Given the description of an element on the screen output the (x, y) to click on. 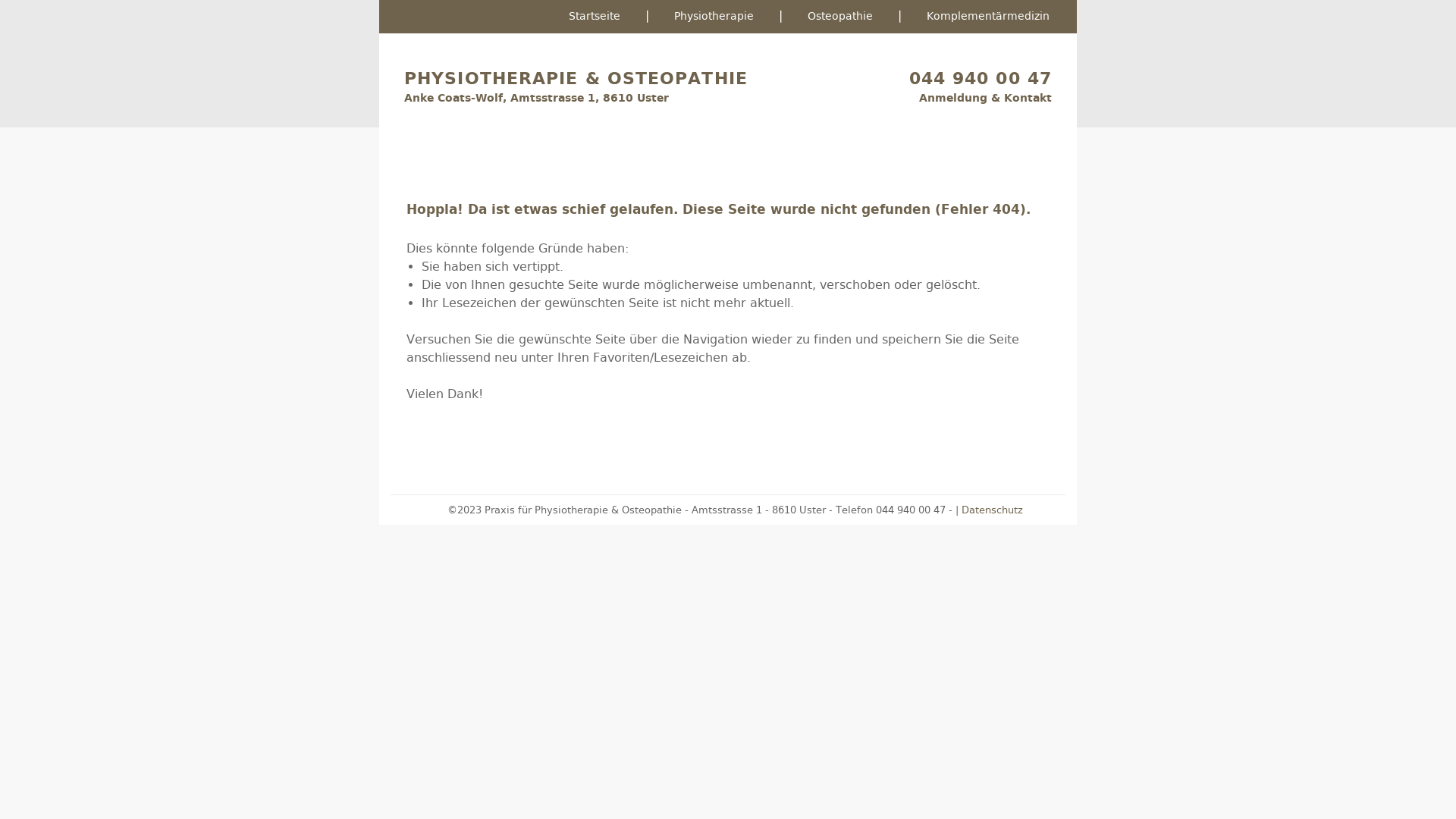
Startseite Element type: text (594, 16)
Osteopathie Element type: text (839, 16)
PHYSIOTHERAPIE & OSTEOPATHIE Element type: text (575, 78)
Physiotherapie Element type: text (713, 16)
Datenschutz Element type: text (991, 509)
